Given the description of an element on the screen output the (x, y) to click on. 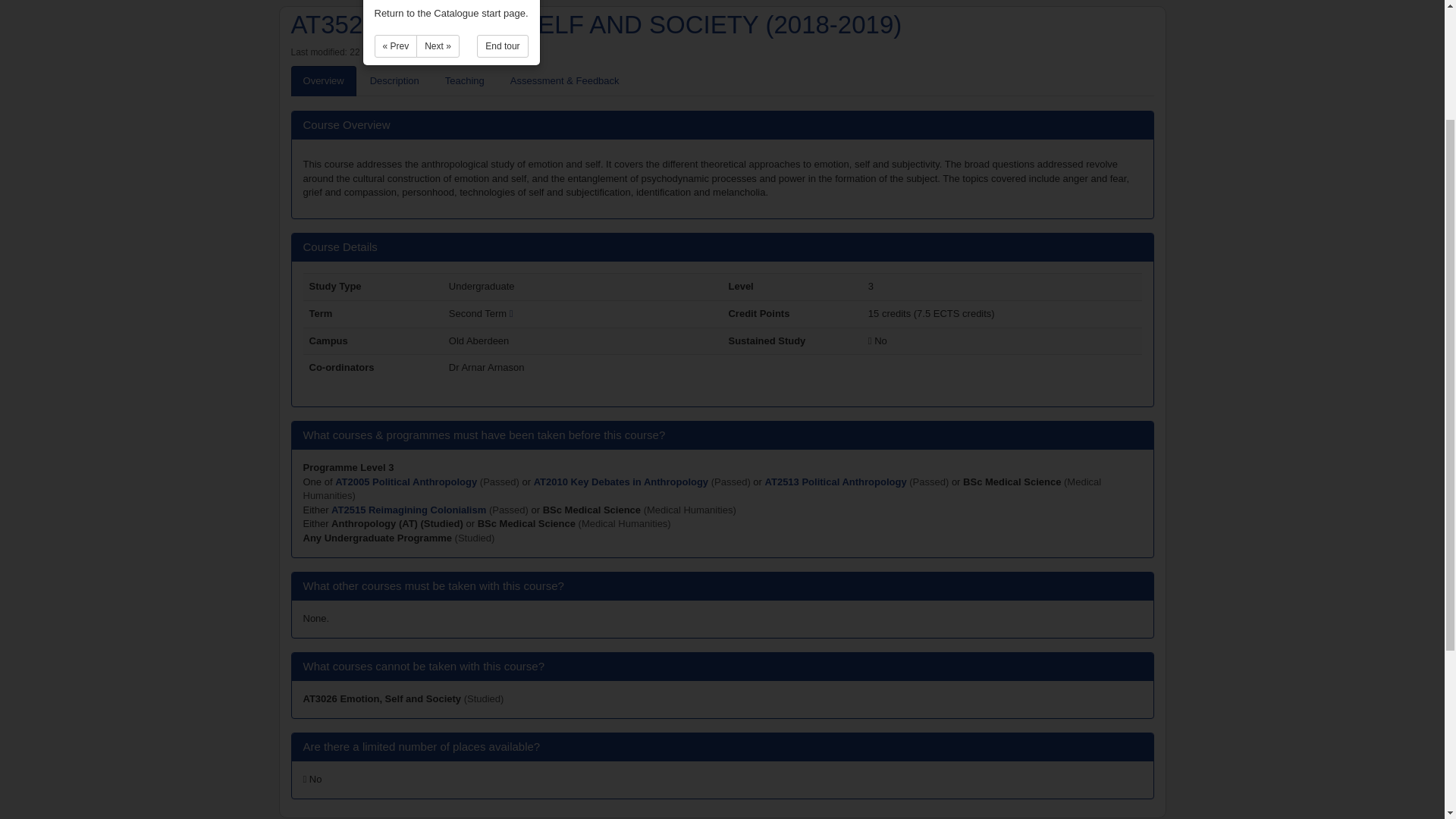
AT2513 Political Anthropology (837, 481)
Teaching (464, 81)
AT2515 Reimagining Colonialism (410, 509)
Description (394, 81)
AT2005 Political Anthropology (407, 481)
End tour (502, 46)
AT2010 Key Debates in Anthropology (622, 481)
UG (378, 537)
Overview (323, 81)
AT (397, 523)
